Given the description of an element on the screen output the (x, y) to click on. 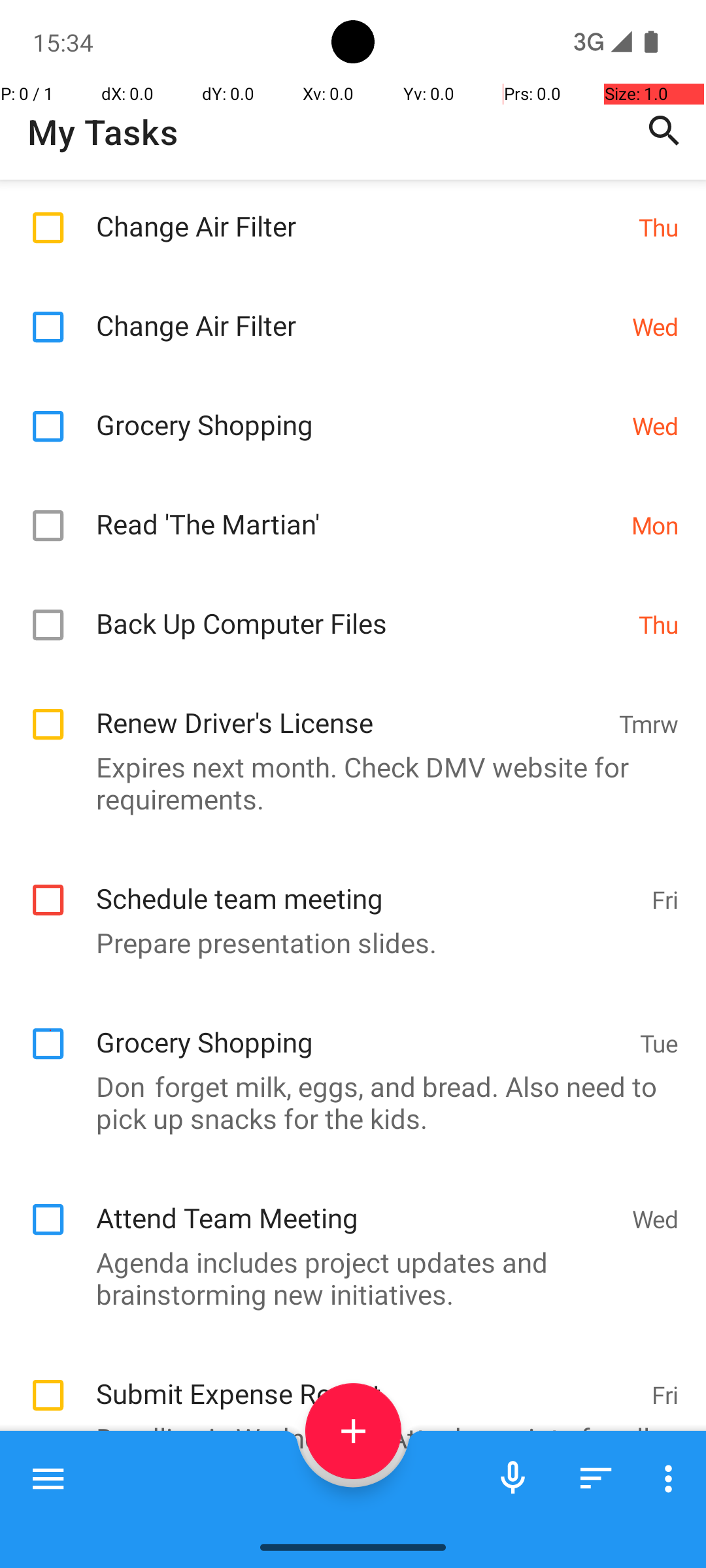
Schedule team meeting Element type: android.widget.TextView (367, 883)
Prepare presentation slides. Element type: android.widget.TextView (346, 942)
